Given the description of an element on the screen output the (x, y) to click on. 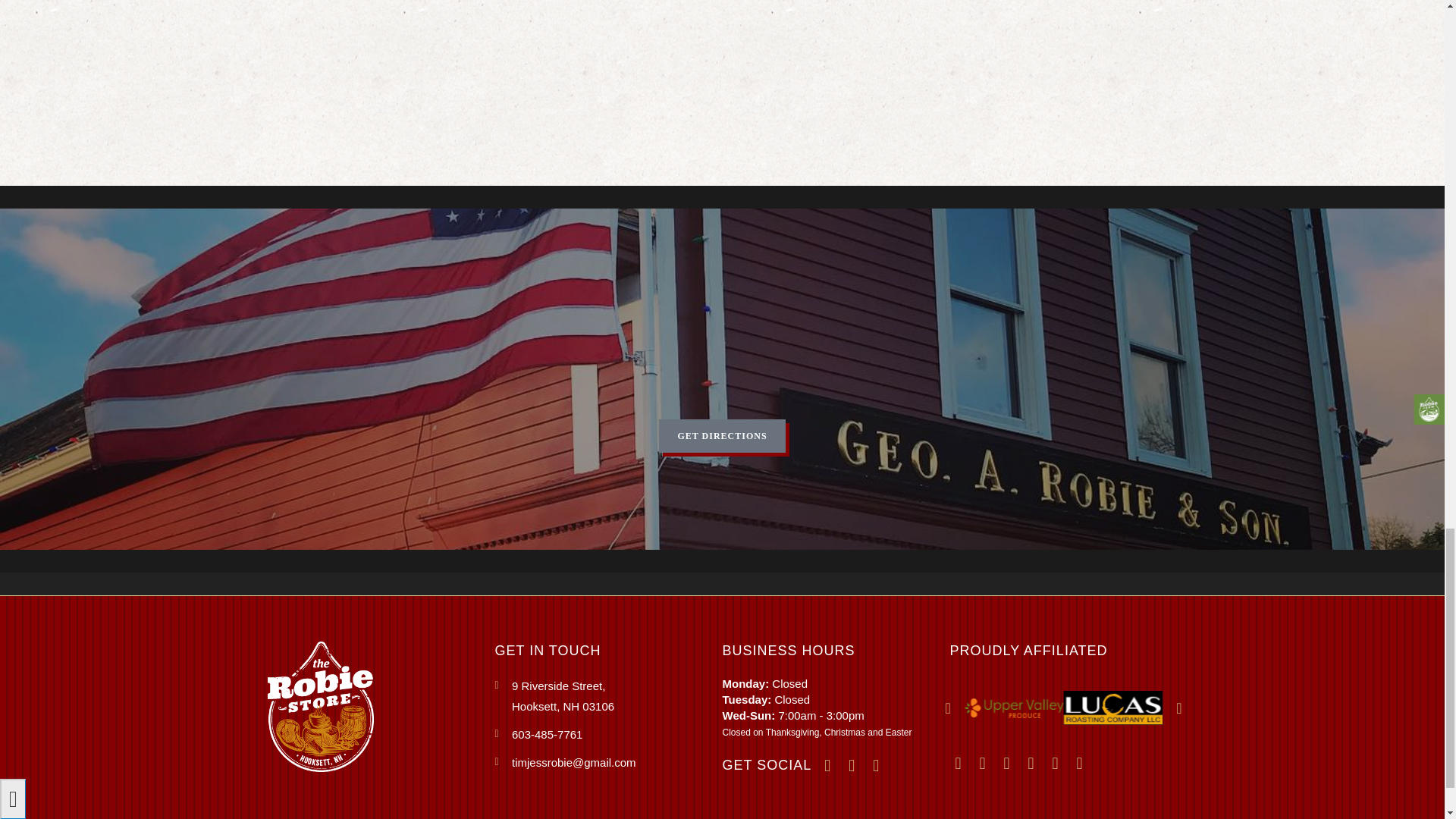
GET DIRECTIONS (721, 435)
603-485-7761 (608, 695)
